Given the description of an element on the screen output the (x, y) to click on. 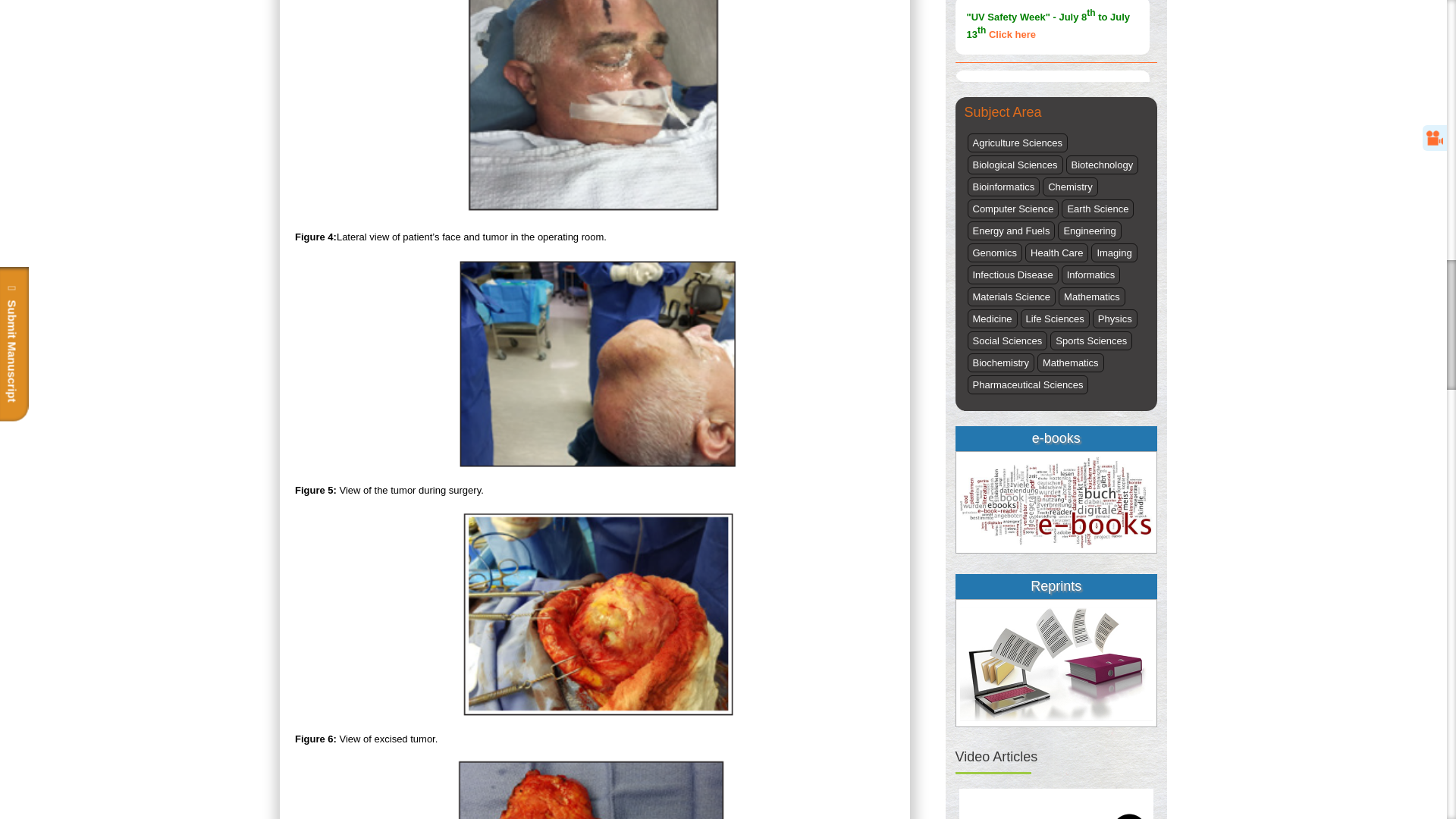
Click here to view Large Figure 5 (594, 614)
Click here to view Large Figure 6 (594, 788)
Click here to view Large Figure 3 (594, 109)
Click here to view Large Figure 4 (594, 363)
